Given the description of an element on the screen output the (x, y) to click on. 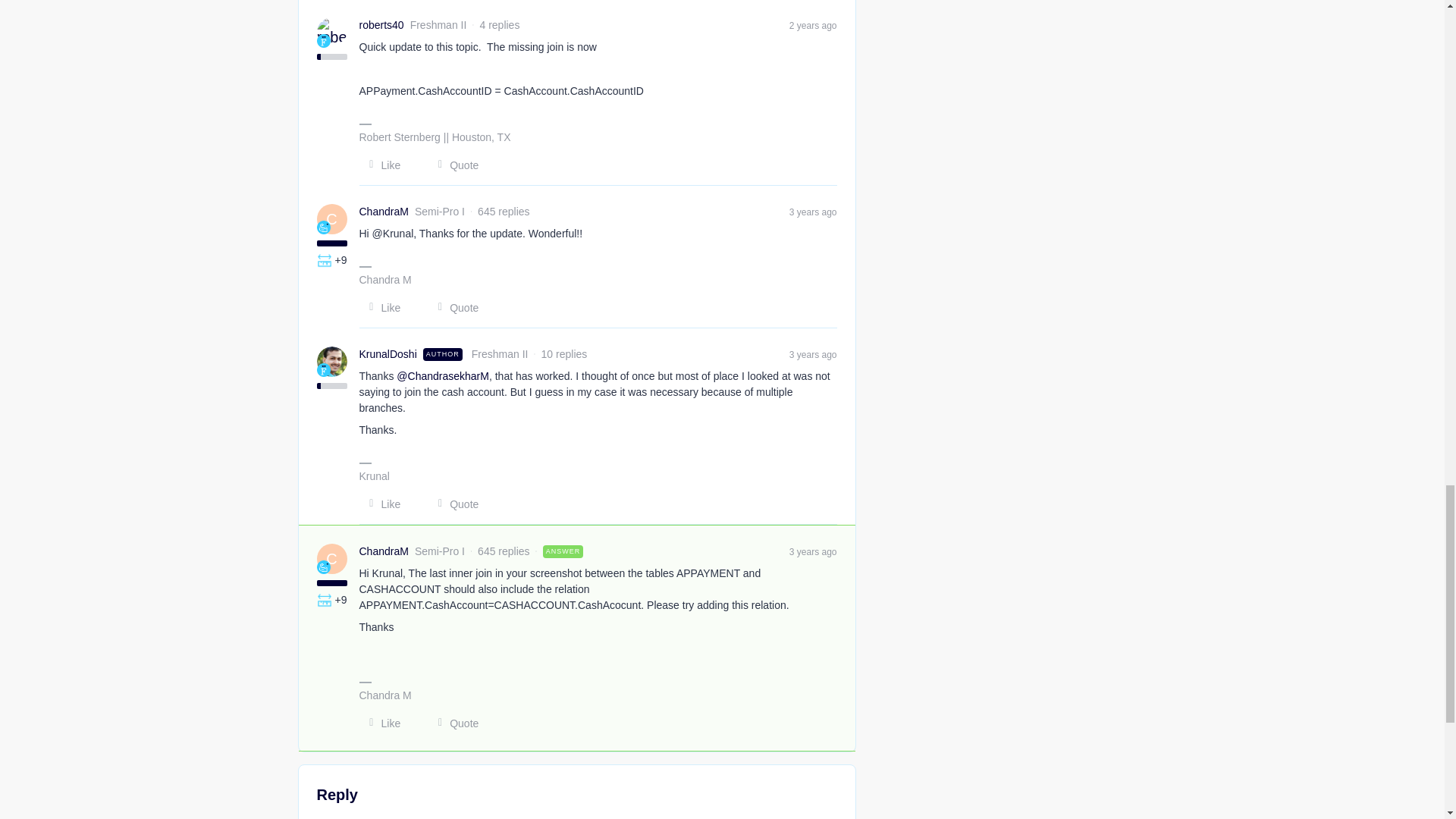
Semi-Pro I (323, 227)
roberts40 (381, 25)
KrunalDoshi (387, 354)
Semi-Pro I (323, 567)
Customizations expert (324, 599)
Customizations expert (324, 259)
ChandraM (384, 211)
Freshman II (323, 40)
Freshman II (323, 369)
ChandraM (384, 551)
